Given the description of an element on the screen output the (x, y) to click on. 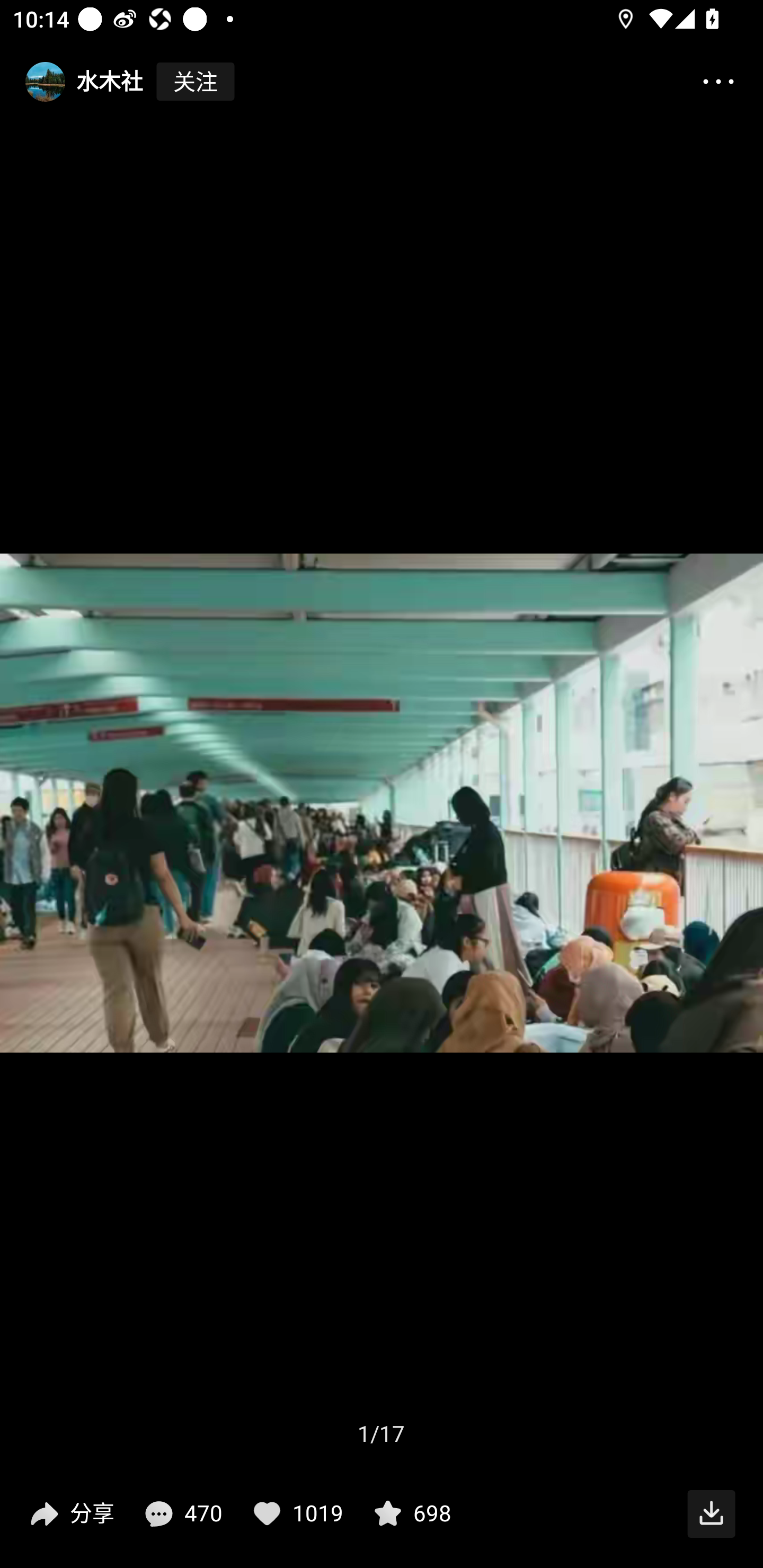
水木社 关注 关注 (117, 81)
关注 (195, 81)
分享 (69, 1513)
评论,470 470 (180, 1513)
收藏,698 698 (409, 1513)
